Given the description of an element on the screen output the (x, y) to click on. 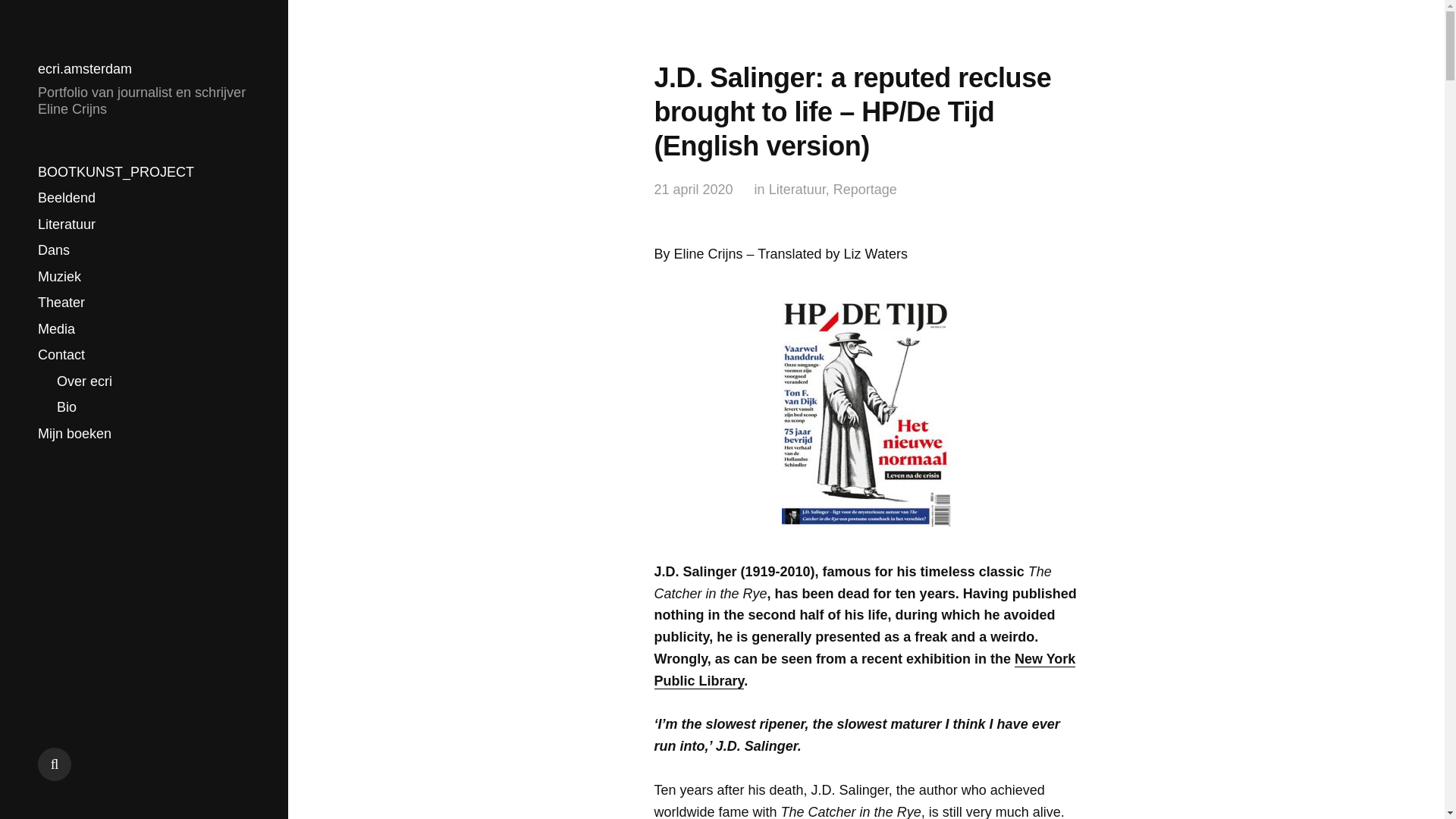
Bio (66, 407)
Literatuur (66, 224)
21 april 2020 08:08 (692, 189)
Dans (53, 250)
Over ecri (84, 381)
Beeldend (66, 198)
Muziek (59, 276)
ecri.amsterdam (84, 68)
21 april 2020 (692, 189)
Mijn boeken (74, 433)
